Given the description of an element on the screen output the (x, y) to click on. 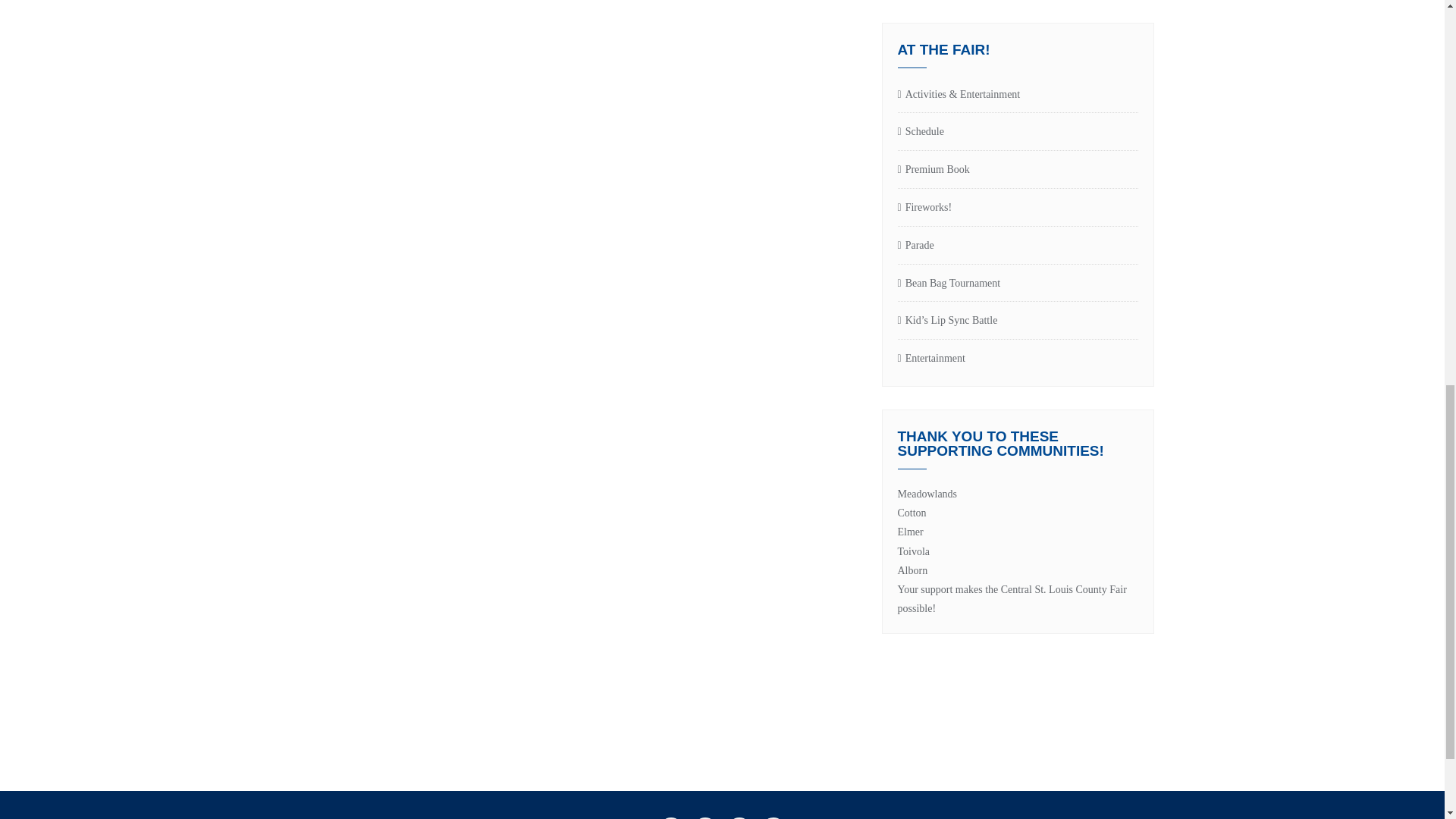
Parade (1018, 245)
Schedule (1018, 132)
Bean Bag Tournament (1018, 283)
Fireworks! (1018, 208)
Premium Book (1018, 169)
